Given the description of an element on the screen output the (x, y) to click on. 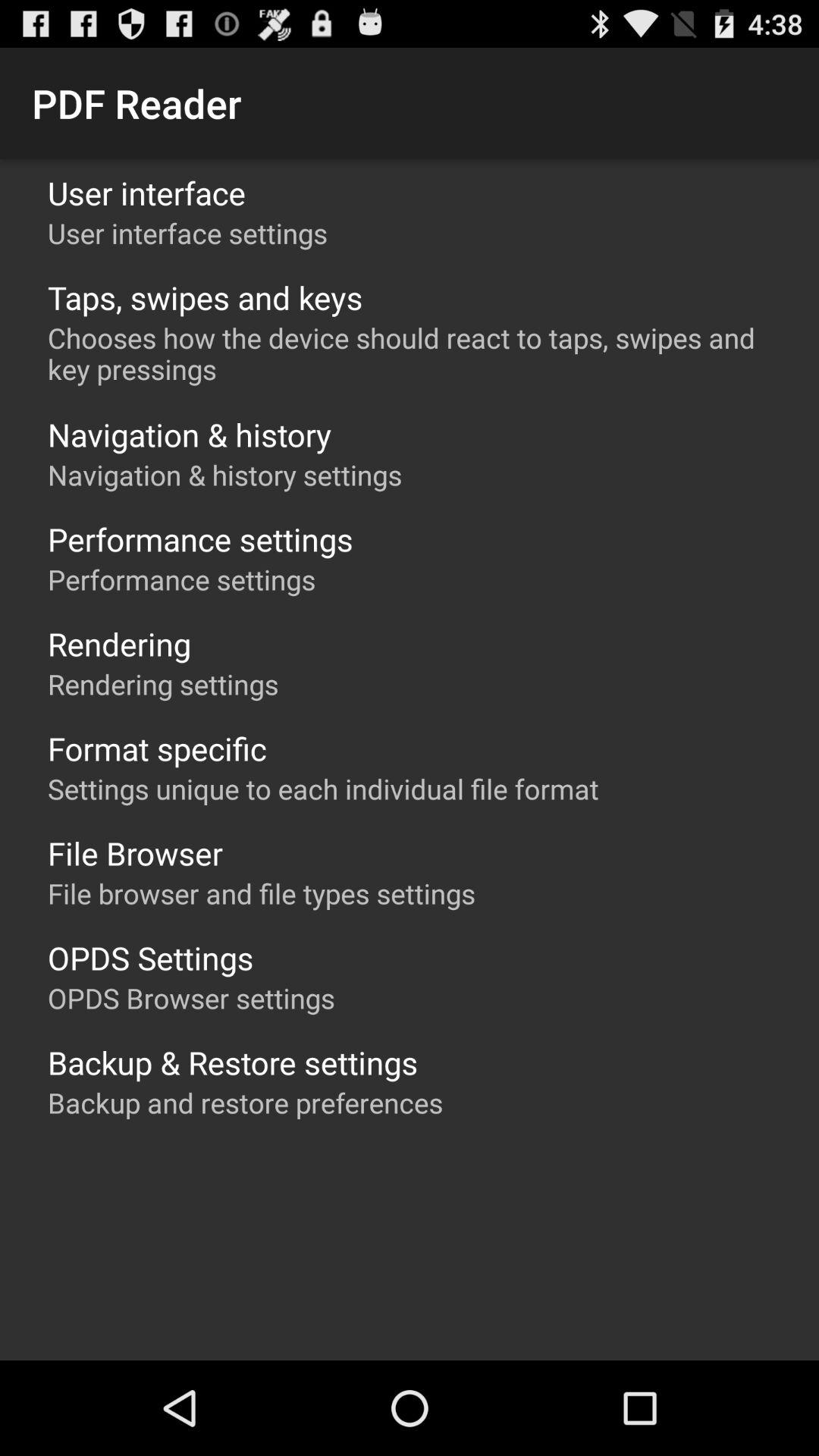
open the app at the top (417, 354)
